Given the description of an element on the screen output the (x, y) to click on. 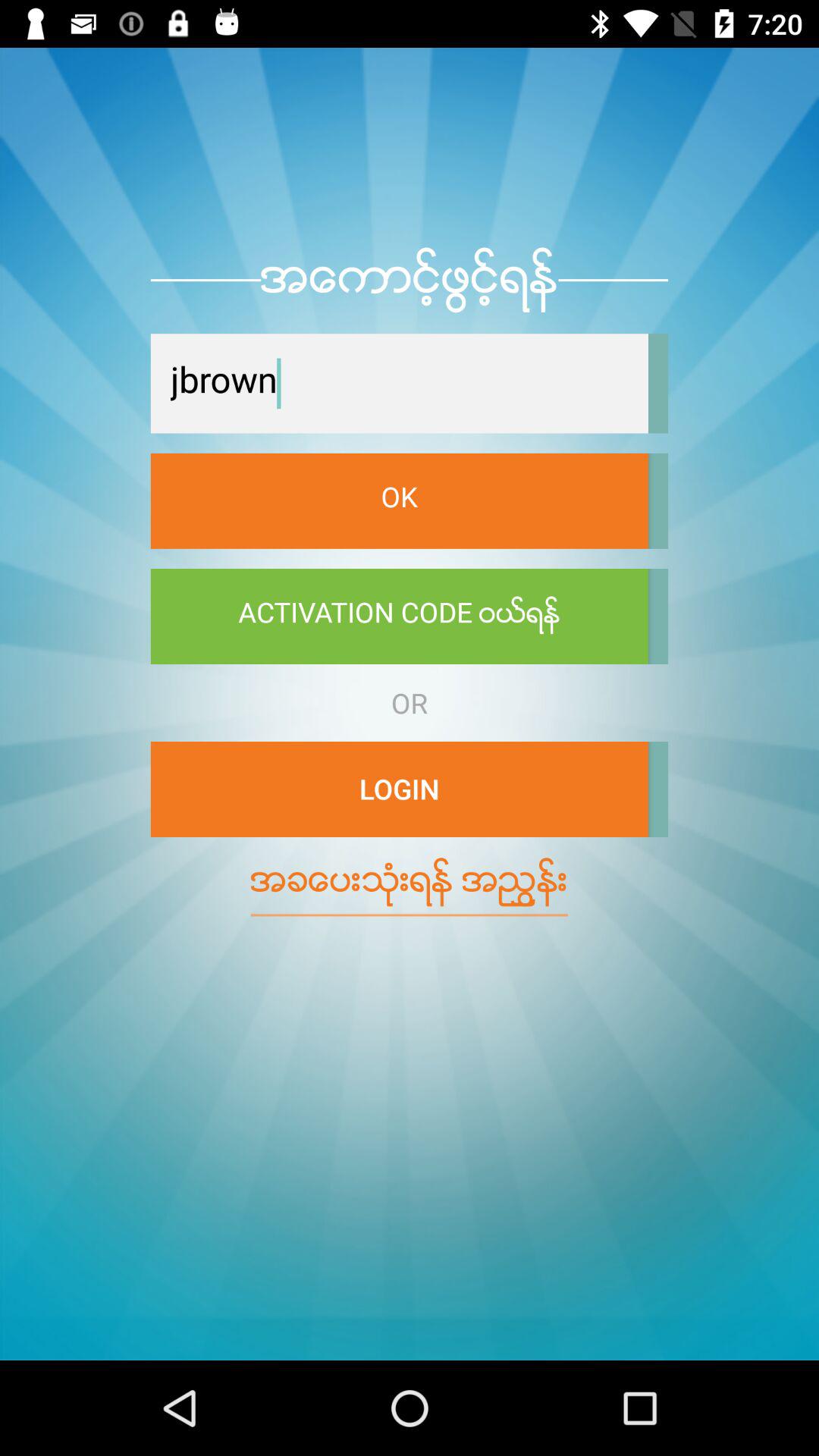
turn off item below login icon (409, 882)
